Given the description of an element on the screen output the (x, y) to click on. 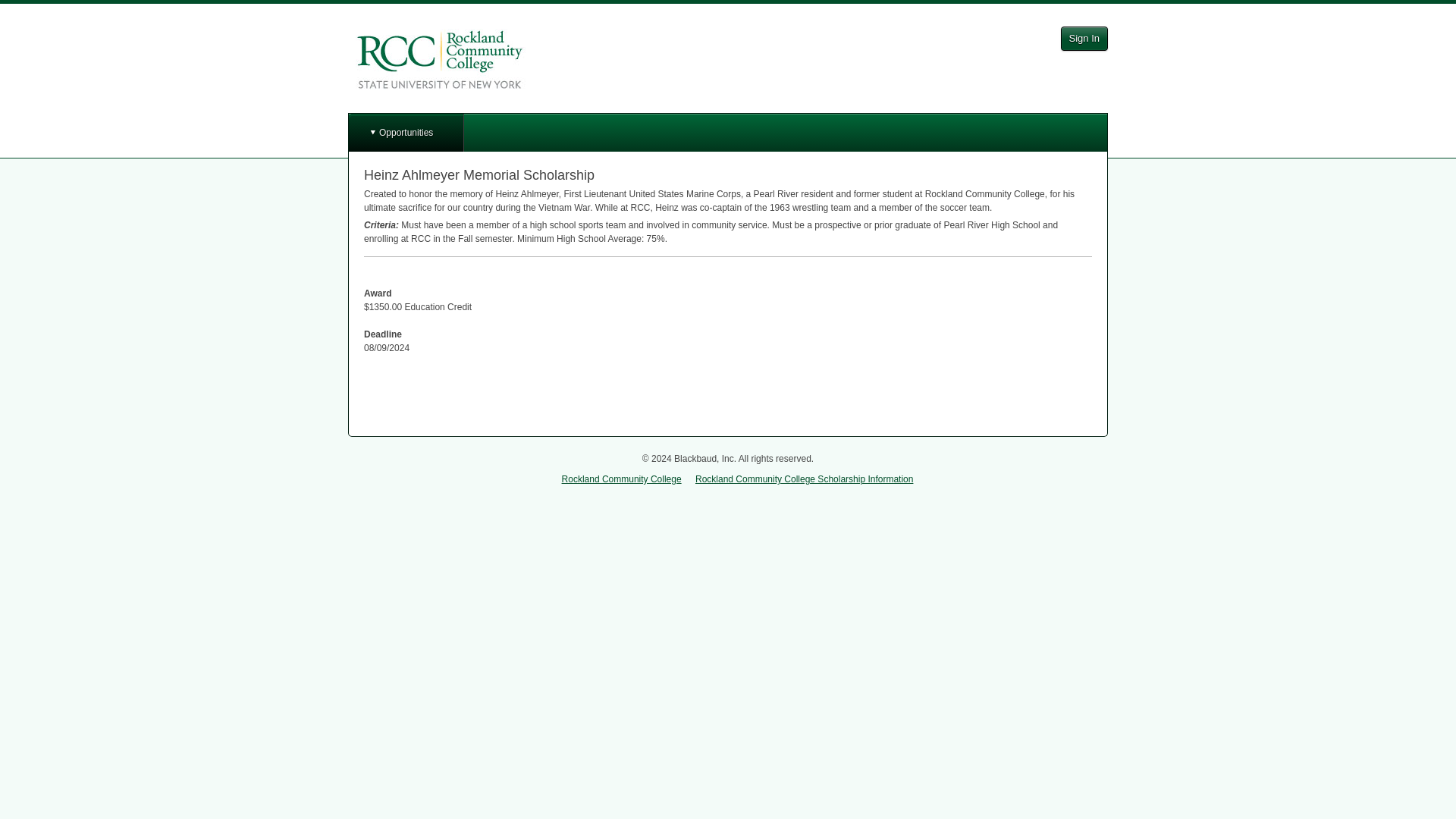
Sign In (1084, 38)
Rockland Community College Scholarship Information (803, 479)
Rockland Community College (621, 479)
Rockland Community College (442, 59)
Opportunities (406, 132)
